Given the description of an element on the screen output the (x, y) to click on. 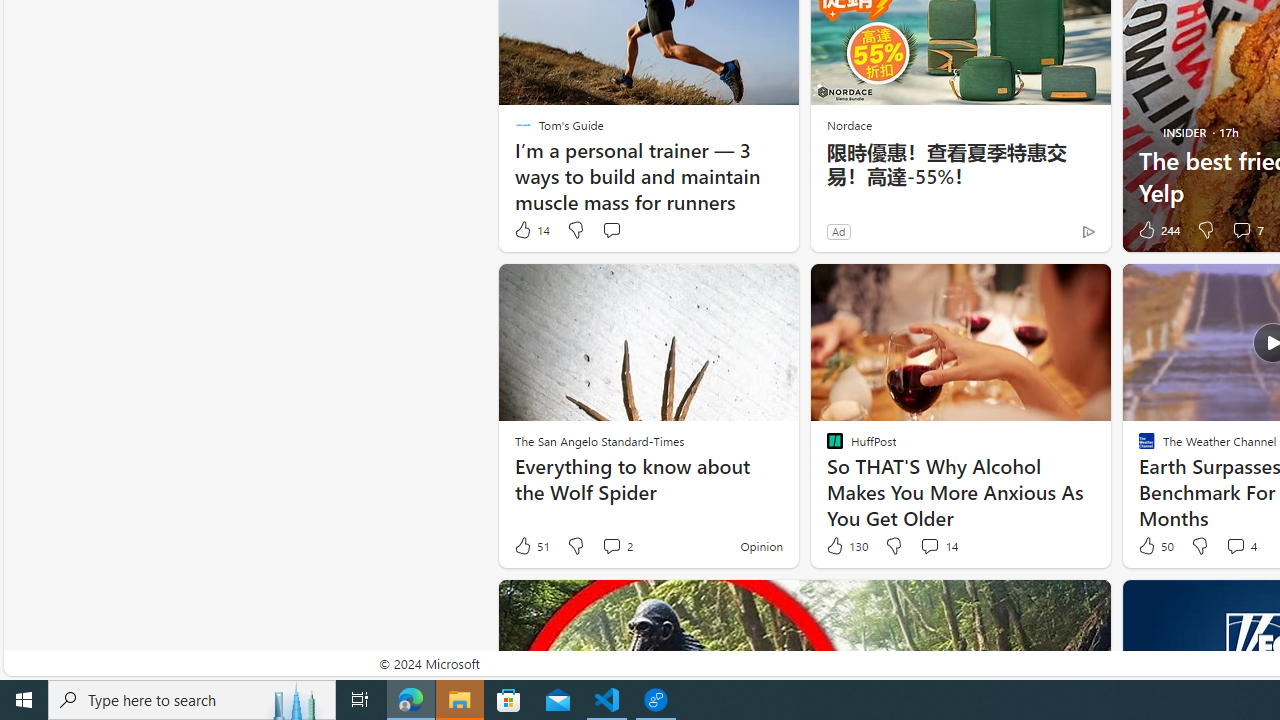
View comments 2 Comment (611, 545)
51 Like (531, 546)
View comments 7 Comment (1247, 230)
130 Like (845, 546)
Ad (838, 231)
View comments 14 Comment (938, 546)
